Given the description of an element on the screen output the (x, y) to click on. 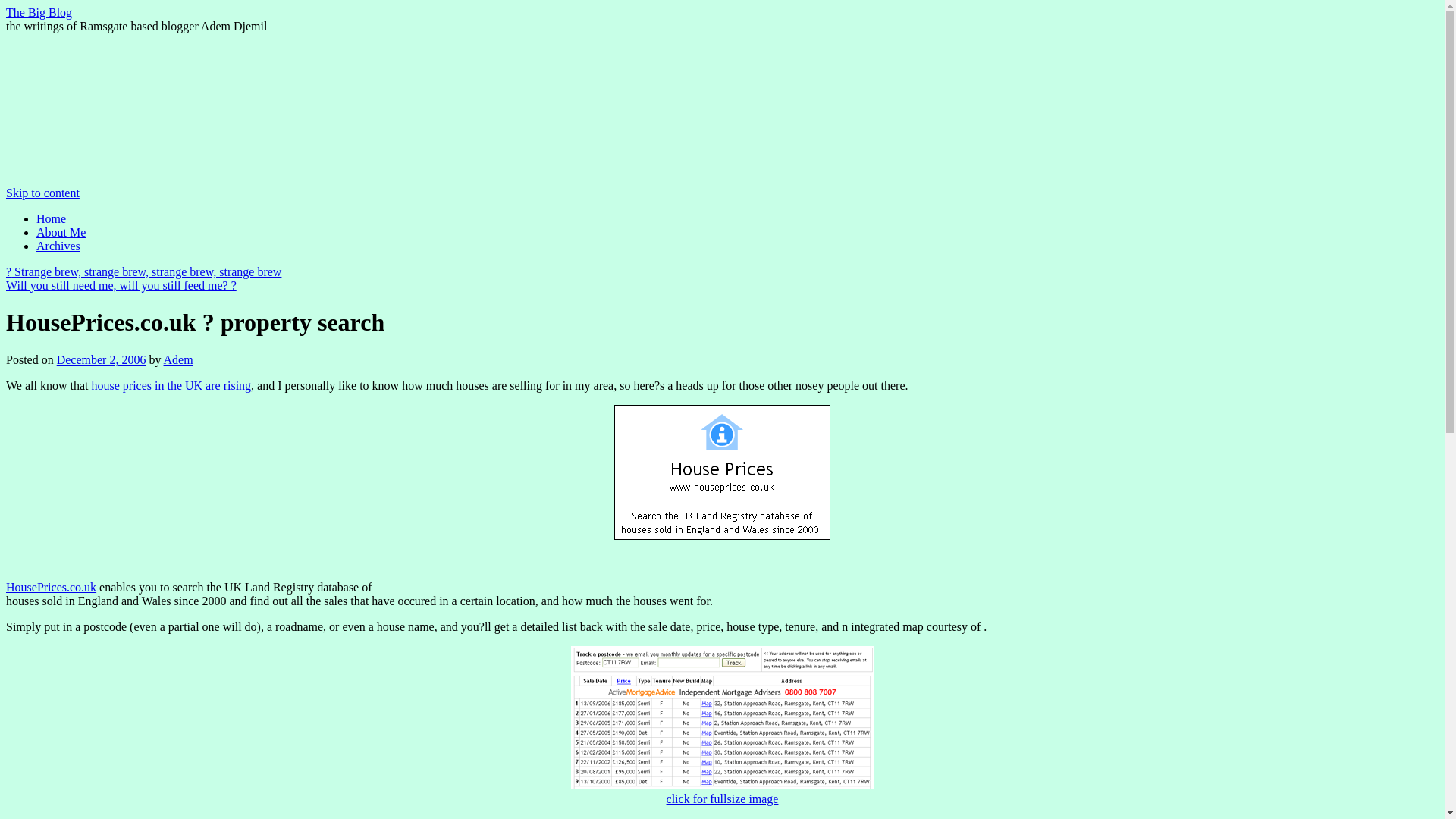
? Strange brew, strange brew, strange brew, strange brew (143, 271)
HousePrices.co.uk (50, 586)
December 2, 2006 (101, 359)
Archives (58, 245)
About Me (60, 232)
The Big Blog (38, 11)
click for fullsize image (722, 798)
house prices in the UK are rising (170, 385)
Archives (58, 245)
Home (50, 218)
Will you still need me, will you still feed me? ? (120, 285)
house price screen small (721, 784)
About Me (60, 232)
The Big Blog (38, 11)
Skip to content (42, 192)
